Given the description of an element on the screen output the (x, y) to click on. 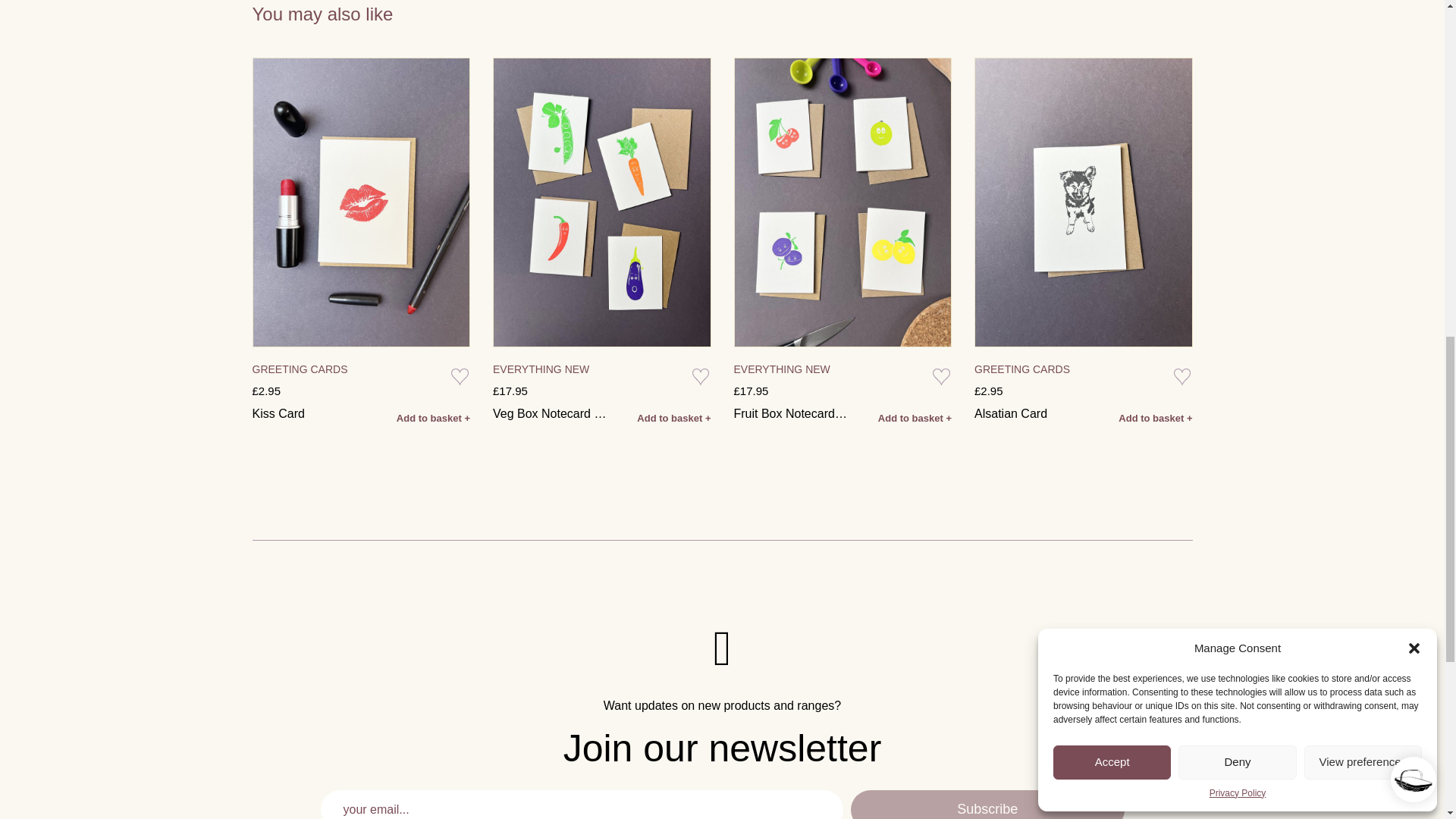
Subscribe (987, 804)
